Given the description of an element on the screen output the (x, y) to click on. 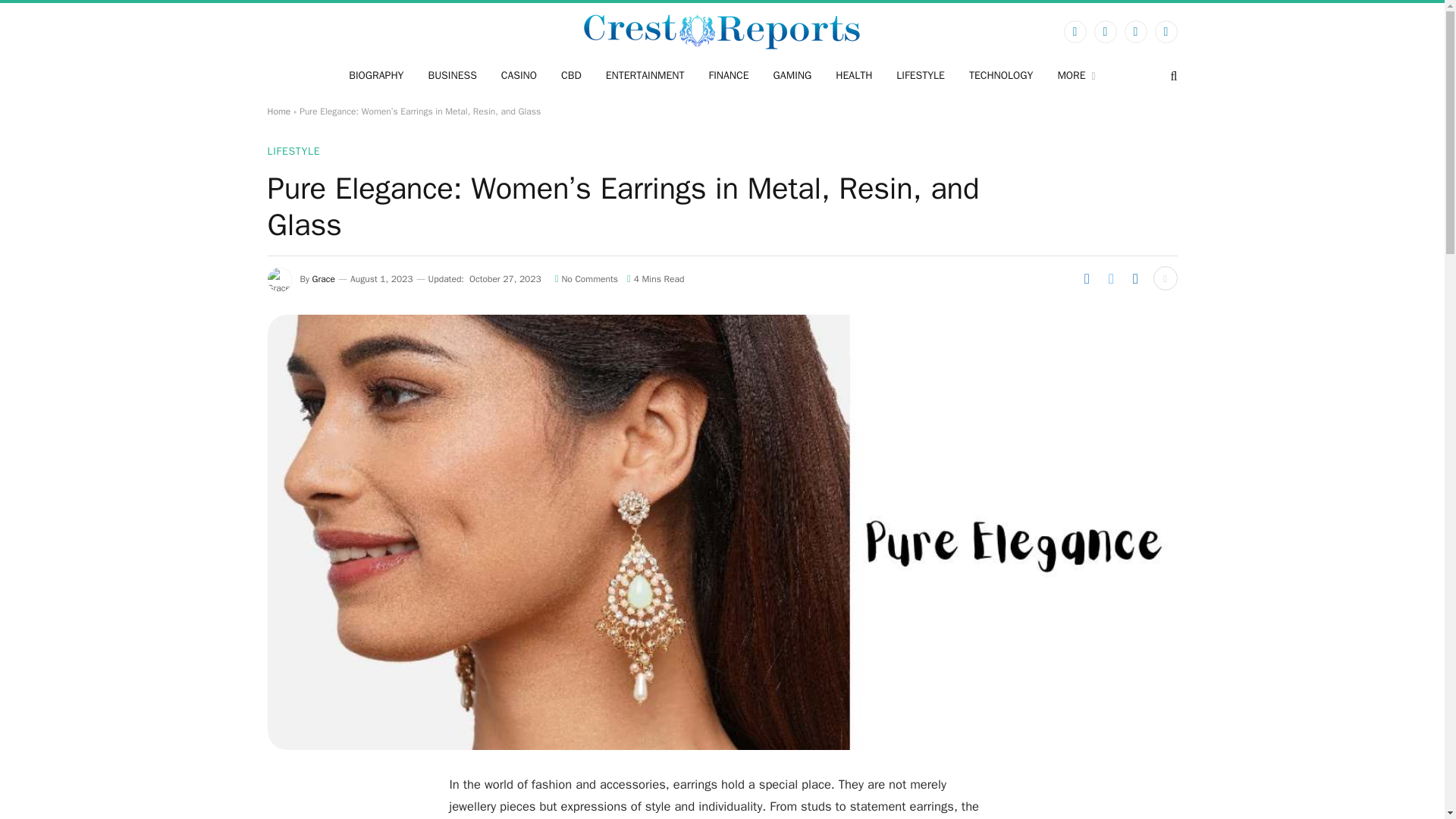
Grace (323, 278)
LinkedIn (1165, 31)
No Comments (585, 278)
Instagram (1135, 31)
Show More Social Sharing (1164, 278)
LIFESTYLE (919, 75)
LIFESTYLE (293, 150)
FINANCE (727, 75)
TECHNOLOGY (1000, 75)
Share on Facebook (1086, 278)
BUSINESS (450, 75)
BIOGRAPHY (375, 75)
CBD (571, 75)
Home (277, 111)
MORE (1075, 75)
